Given the description of an element on the screen output the (x, y) to click on. 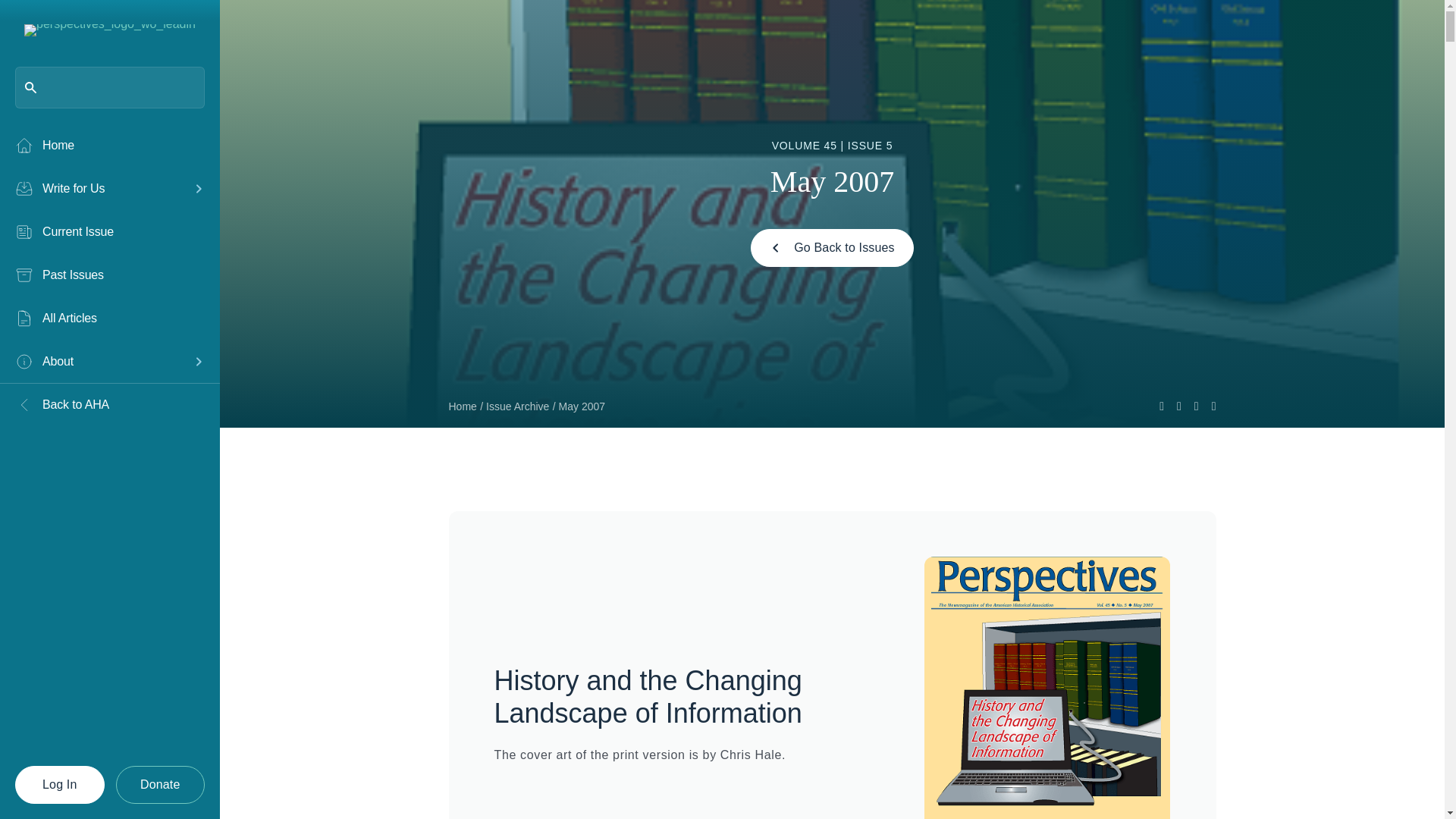
Current Issue (109, 231)
Back to AHA (109, 404)
Log In (59, 784)
Past Issues (109, 274)
Search (38, 18)
All Articles (109, 318)
About (98, 361)
Write for Us (98, 188)
Home (109, 145)
Donate (160, 784)
